Given the description of an element on the screen output the (x, y) to click on. 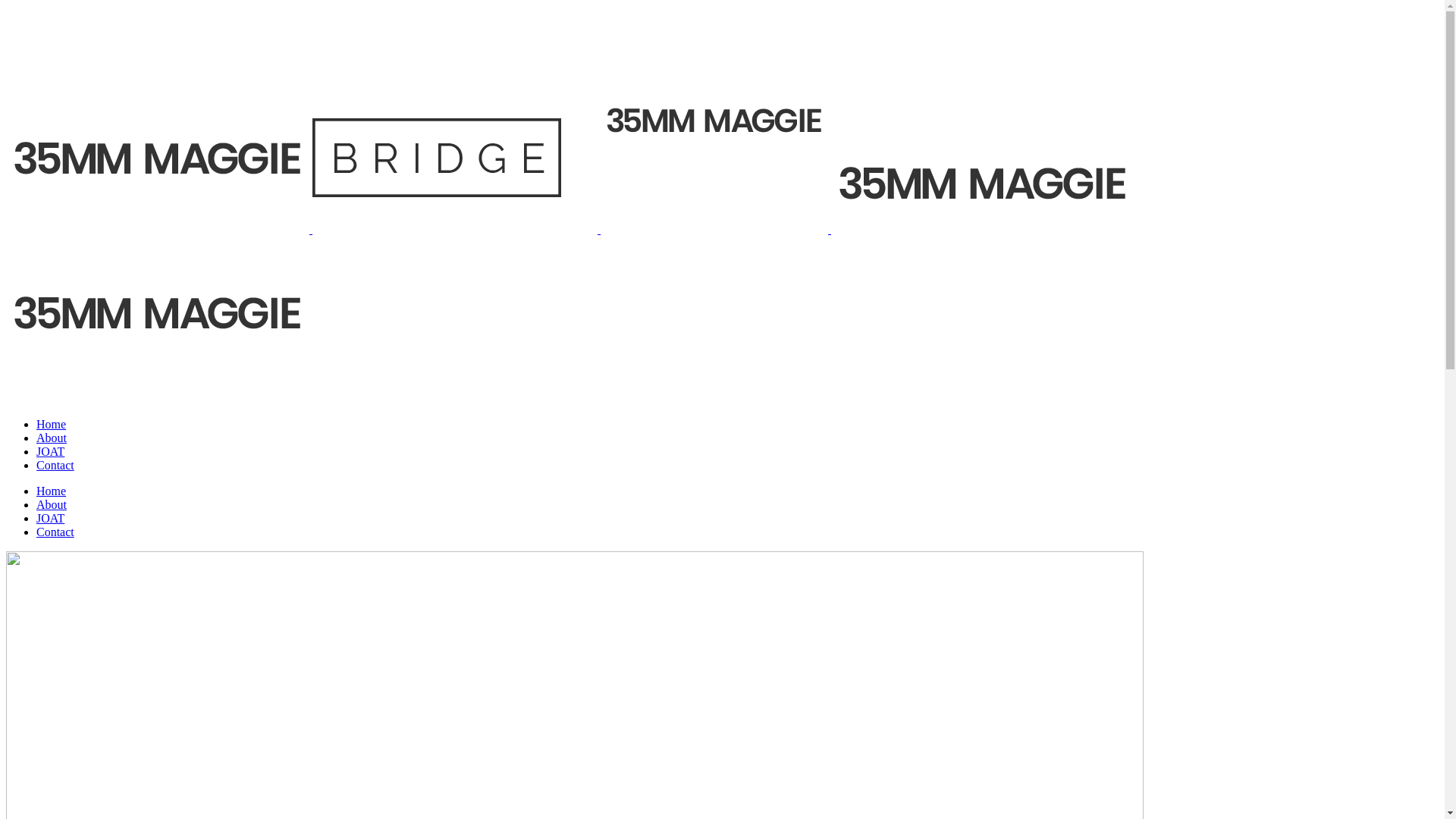
Home Element type: text (50, 423)
JOAT Element type: text (50, 451)
About Element type: text (51, 437)
Contact Element type: text (55, 464)
Home Element type: text (50, 490)
JOAT Element type: text (50, 517)
Contact Element type: text (55, 531)
About Element type: text (51, 504)
